Given the description of an element on the screen output the (x, y) to click on. 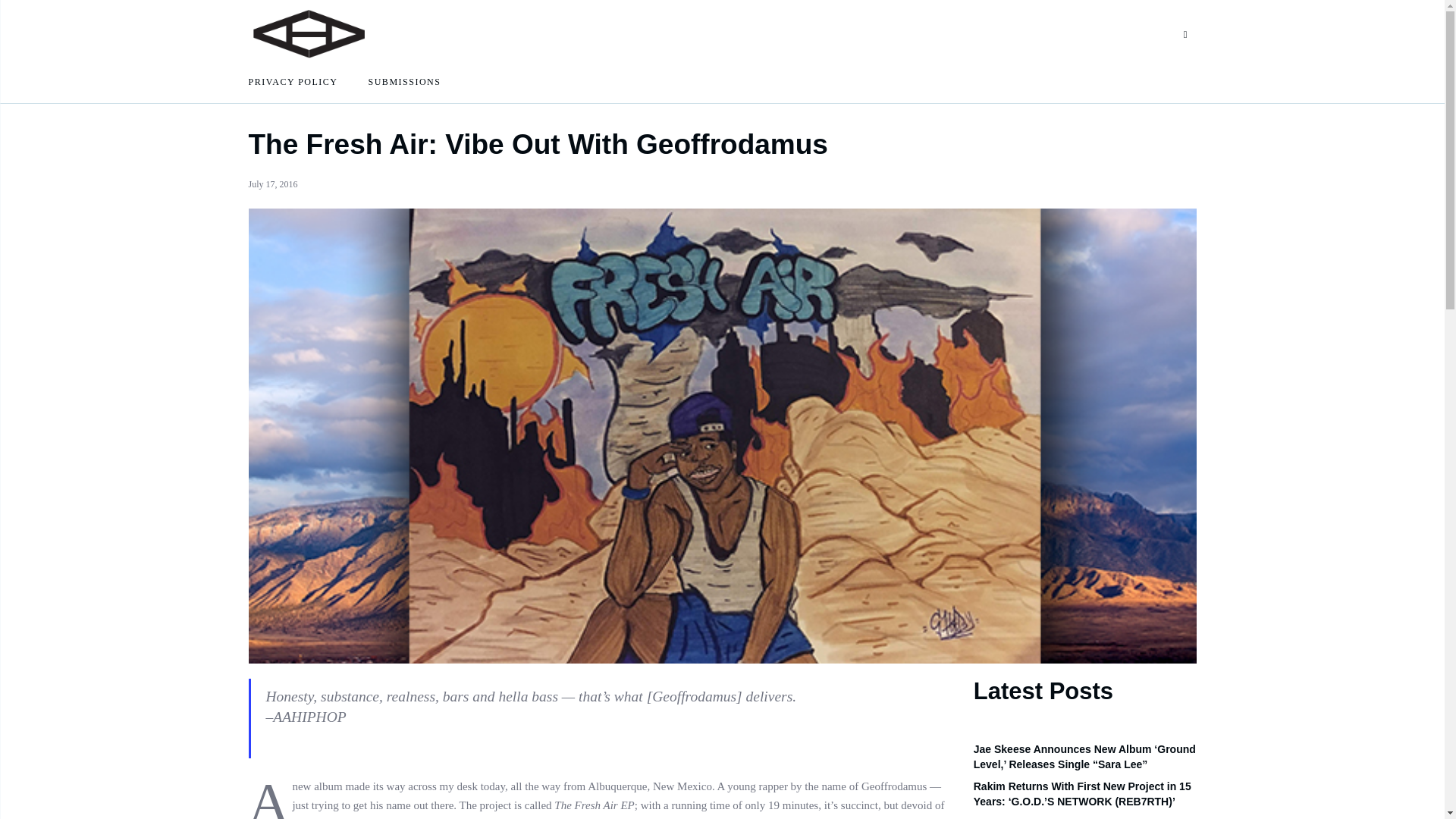
PRIVACY POLICY (292, 82)
SUBMISSIONS (404, 82)
